Given the description of an element on the screen output the (x, y) to click on. 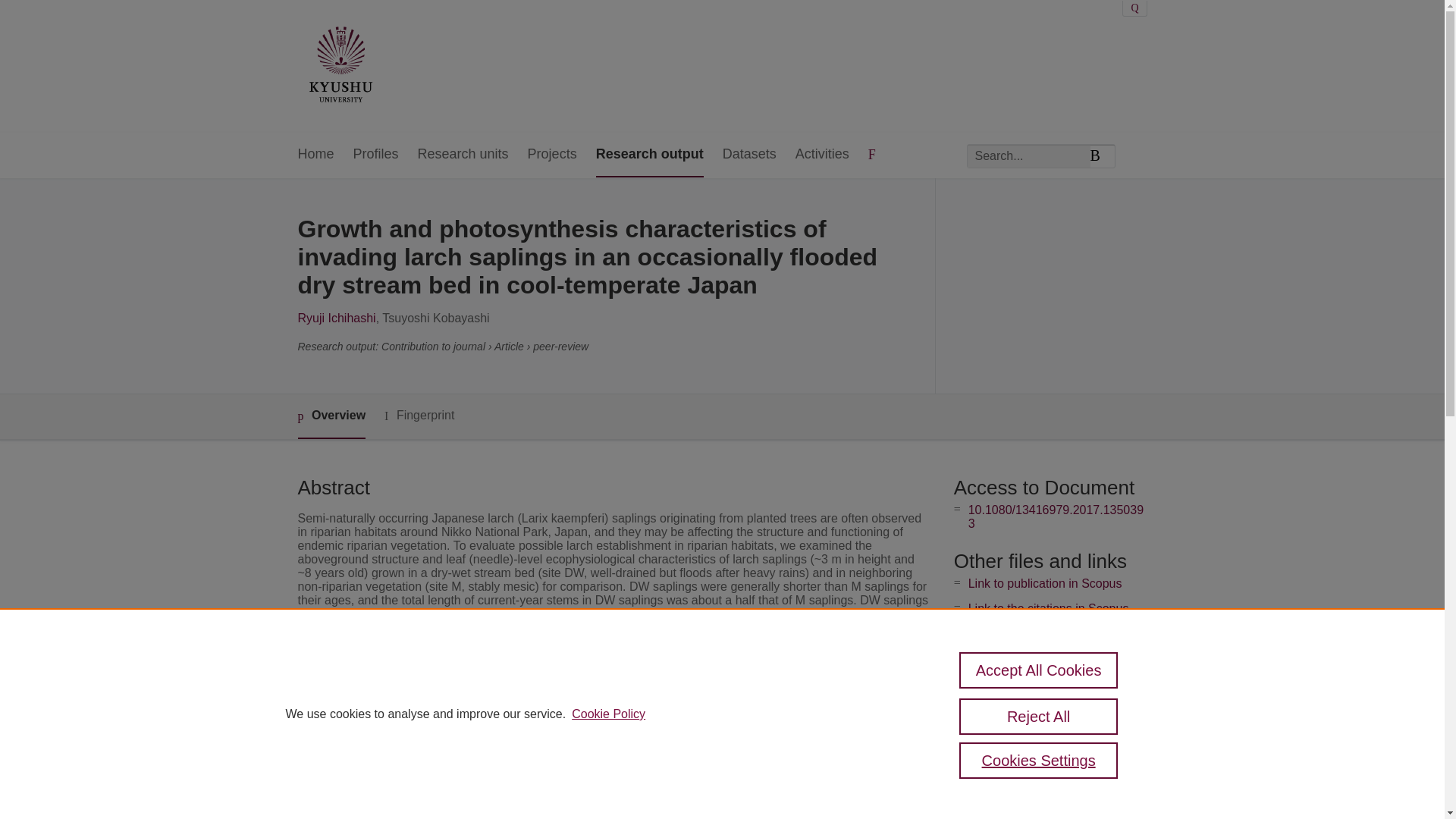
Profiles (375, 154)
Link to publication in Scopus (1045, 583)
Datasets (749, 154)
Research output (649, 154)
Journal of Forest Research (581, 799)
Projects (551, 154)
Research units (462, 154)
Activities (821, 154)
Overview (331, 415)
